Given the description of an element on the screen output the (x, y) to click on. 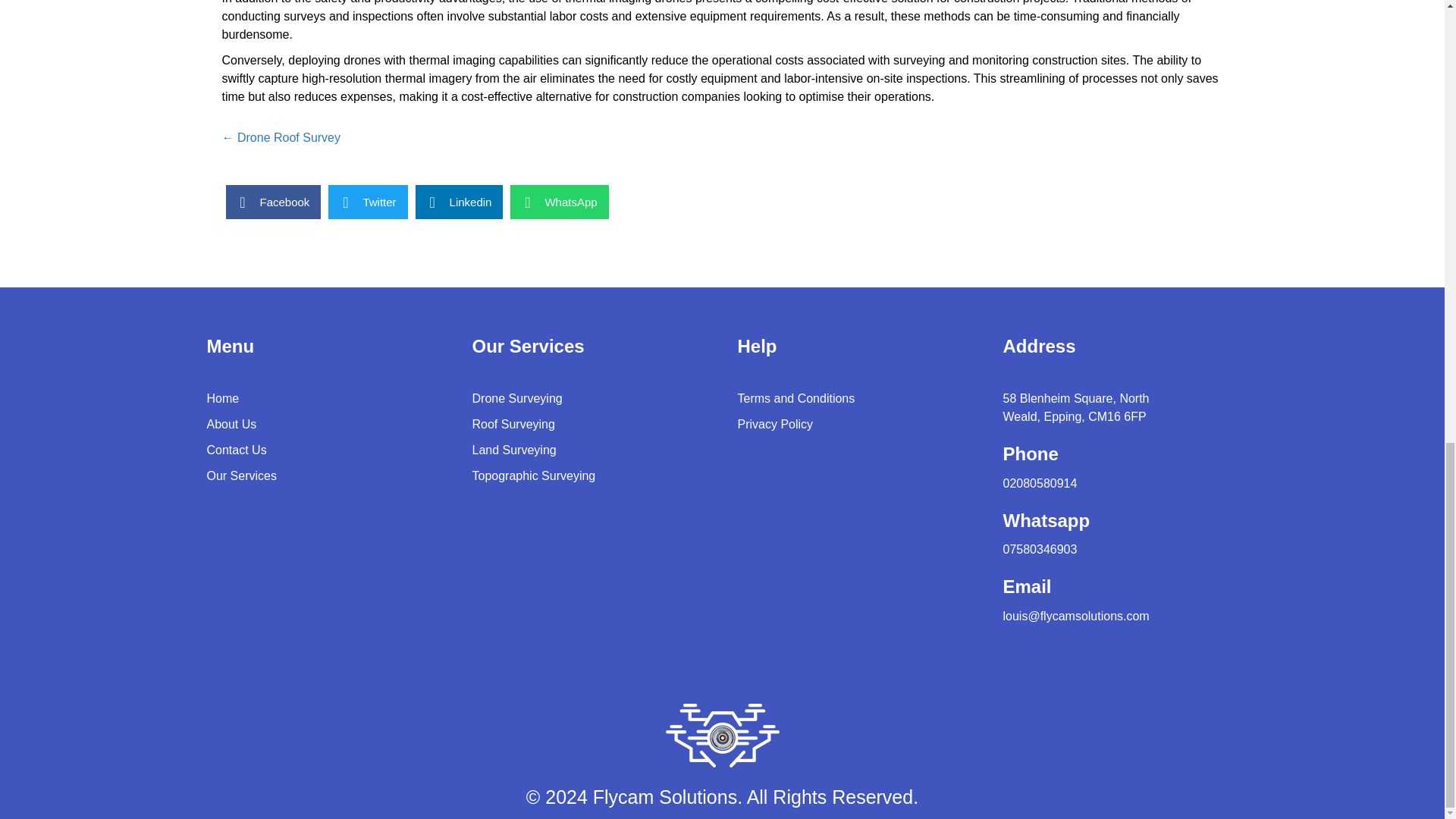
Linkedin (458, 202)
Contact Us (236, 449)
Our Services (241, 475)
Twitter (368, 202)
About Us (231, 423)
Land Surveying (513, 449)
WhatsApp (559, 202)
Roof Surveying (512, 423)
Facebook (273, 202)
02080580914 (1040, 482)
Drone Surveying (516, 398)
Topographic Surveying (533, 475)
Home (222, 398)
07580346903 (1040, 549)
